Given the description of an element on the screen output the (x, y) to click on. 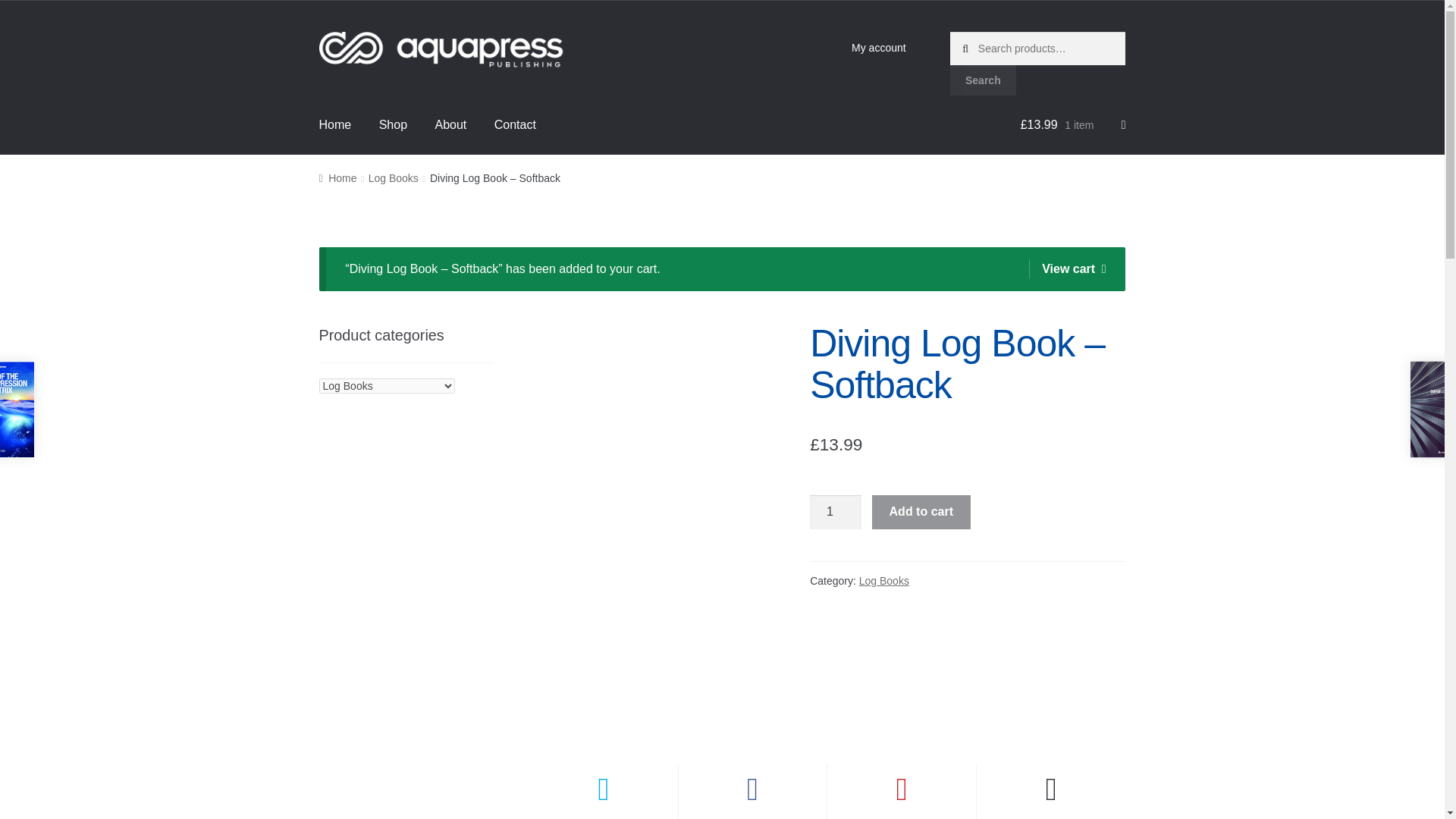
Share on Twitter (603, 791)
Search (982, 80)
Share via Email (1050, 791)
My account (879, 47)
Pin this product (901, 791)
Qty (835, 512)
Log Books (883, 580)
About (450, 124)
View your shopping cart (1072, 124)
View cart (1067, 269)
